Given the description of an element on the screen output the (x, y) to click on. 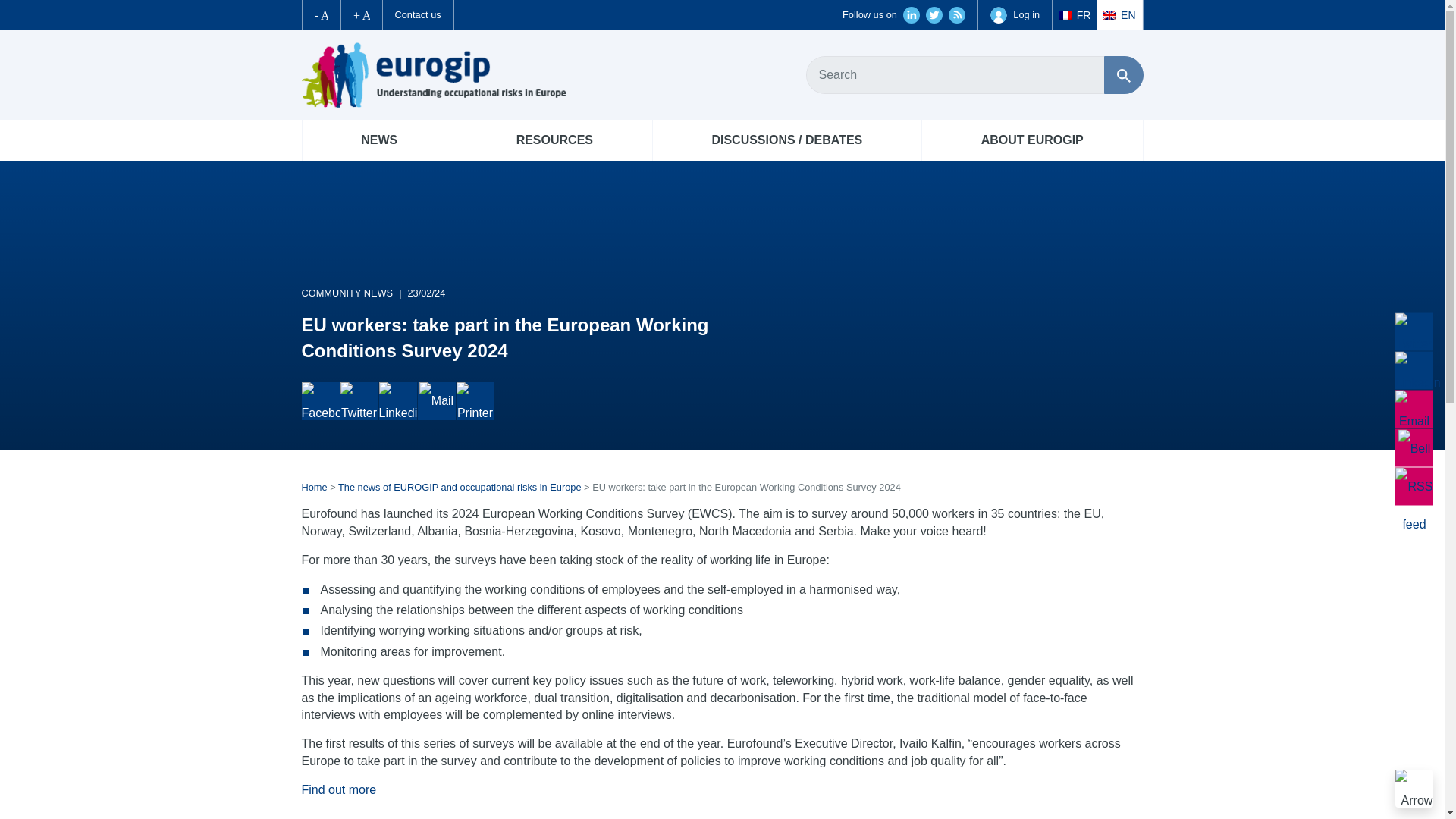
FR (1074, 15)
Log in (1015, 15)
ABOUT EUROGIP (1031, 139)
NEWS (378, 139)
EN (1118, 15)
RESOURCES (554, 139)
Contact us (416, 15)
